Given the description of an element on the screen output the (x, y) to click on. 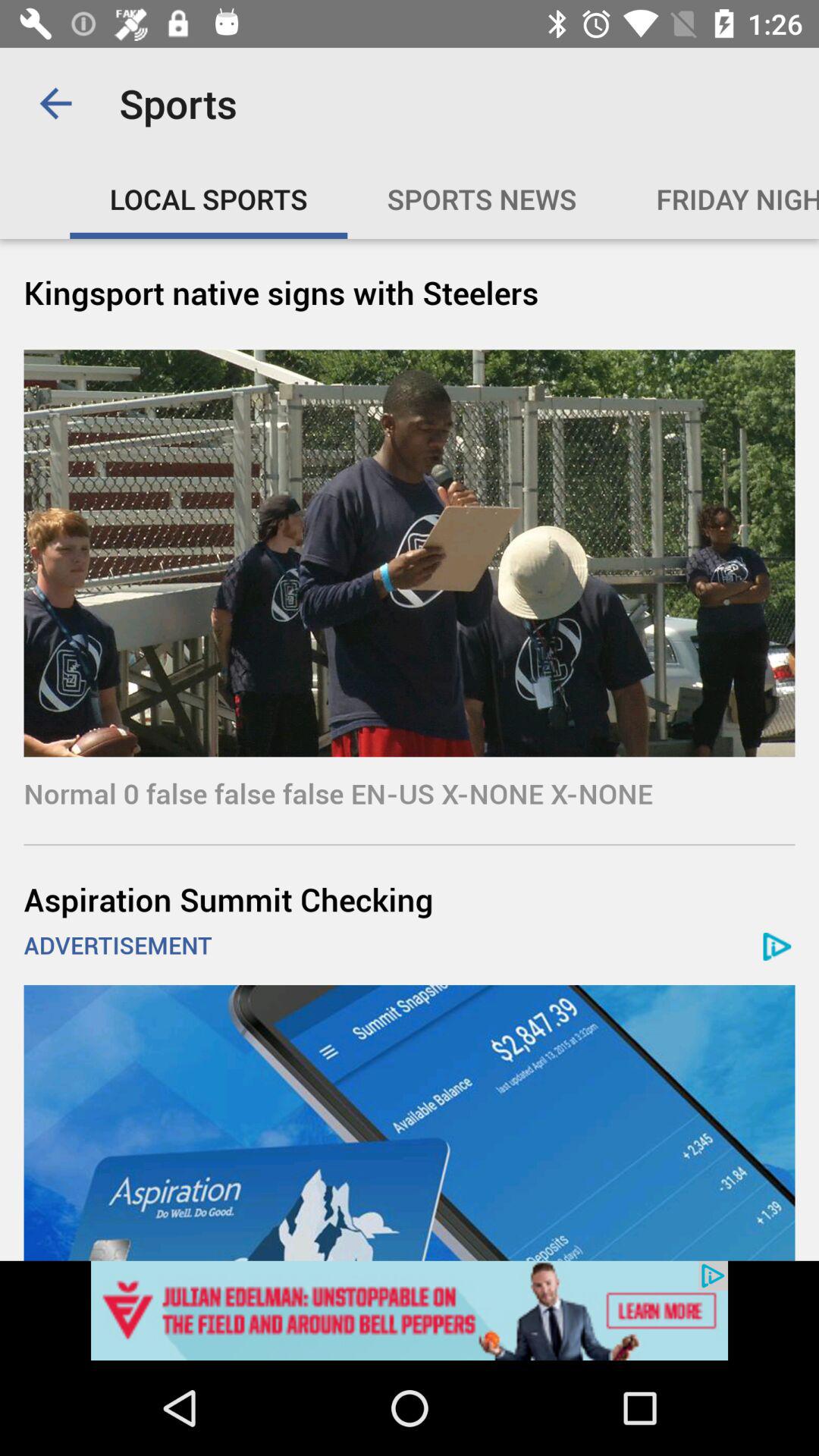
advertisement banner (409, 1122)
